Given the description of an element on the screen output the (x, y) to click on. 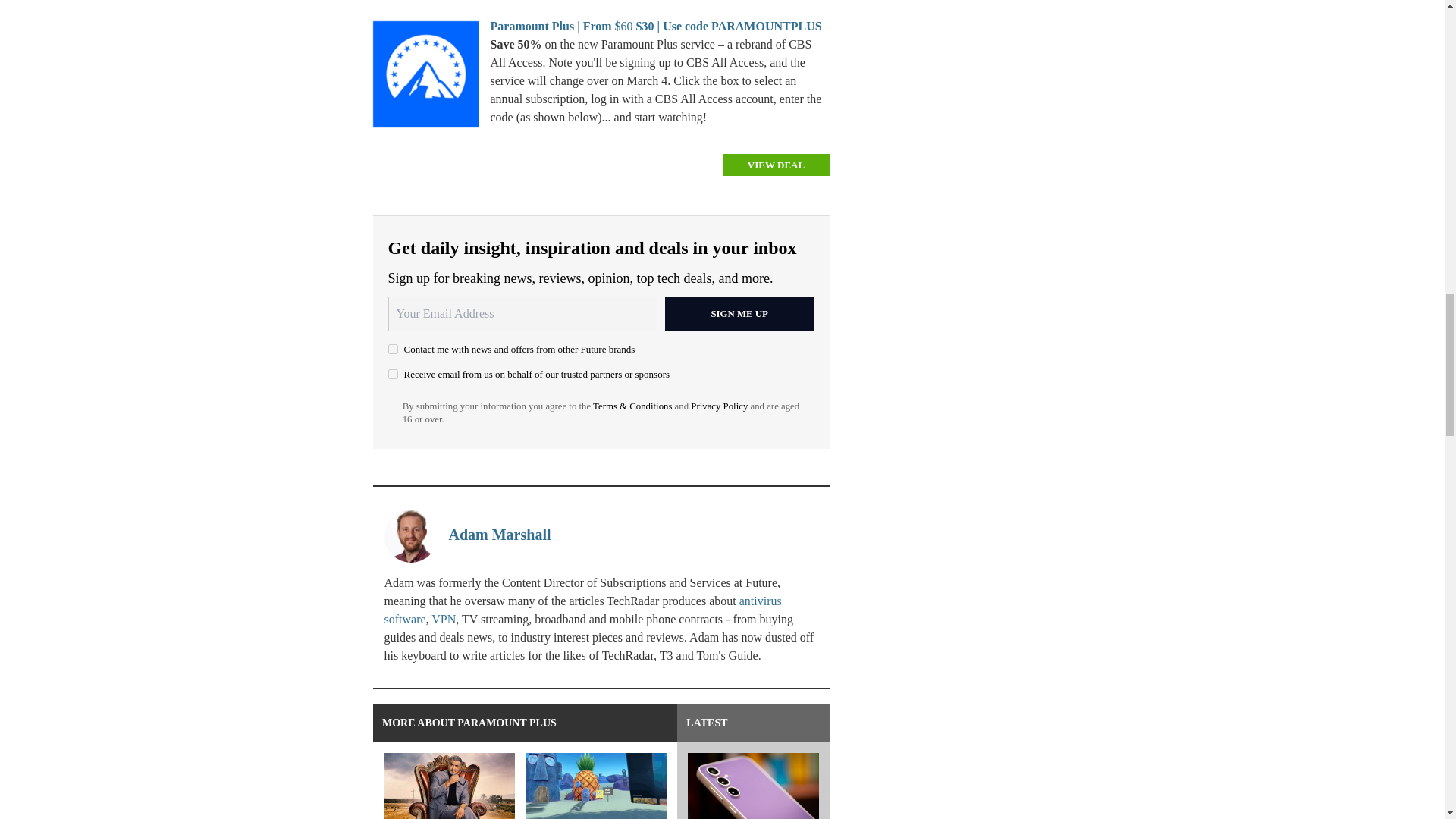
on (392, 348)
Sign me up (739, 313)
on (392, 374)
